Given the description of an element on the screen output the (x, y) to click on. 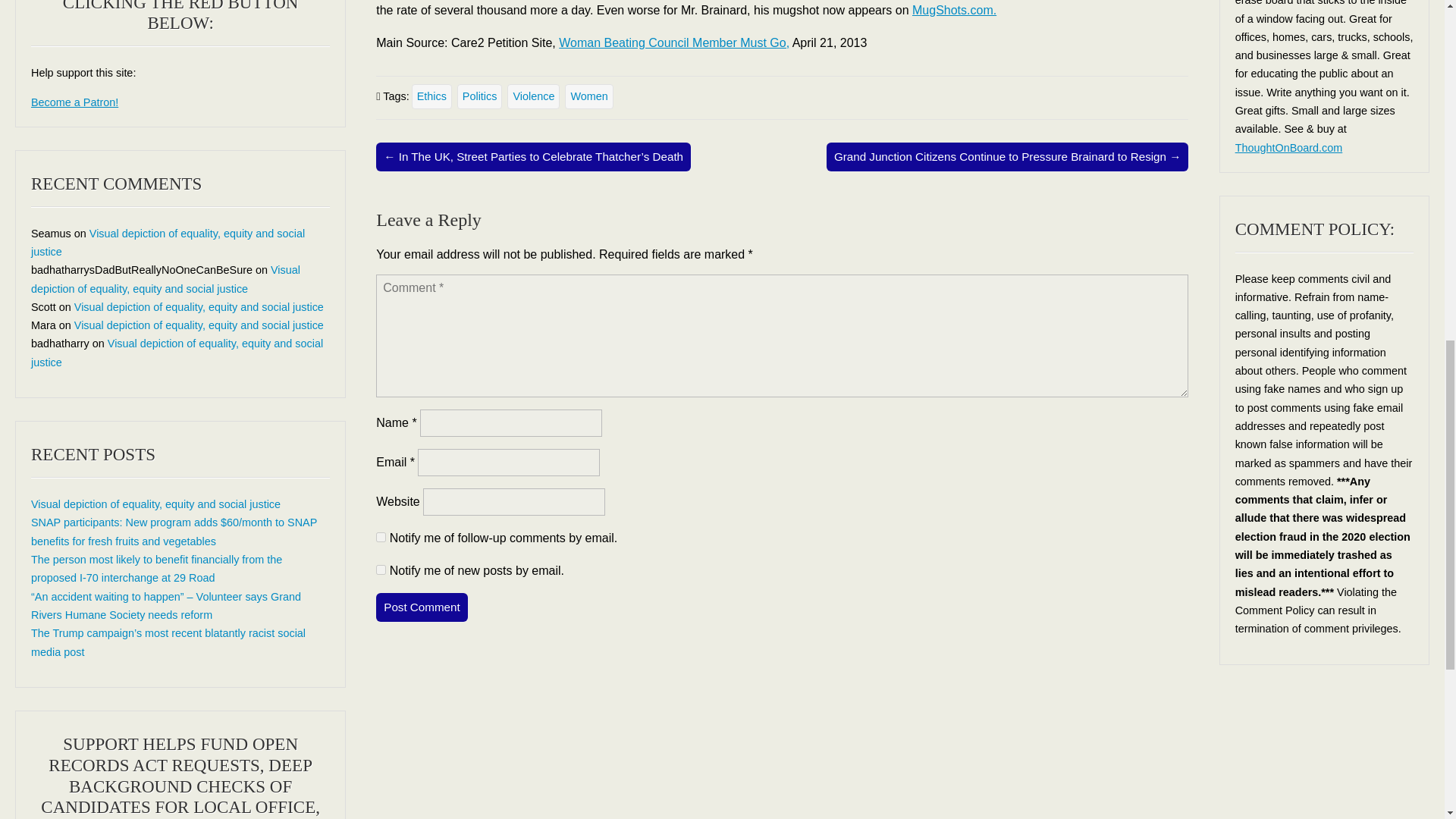
subscribe (380, 569)
Post Comment (421, 606)
subscribe (380, 537)
Ethics (431, 96)
MugShots.com. (953, 10)
Woman Beating Council Member Must Go, (674, 42)
